Given the description of an element on the screen output the (x, y) to click on. 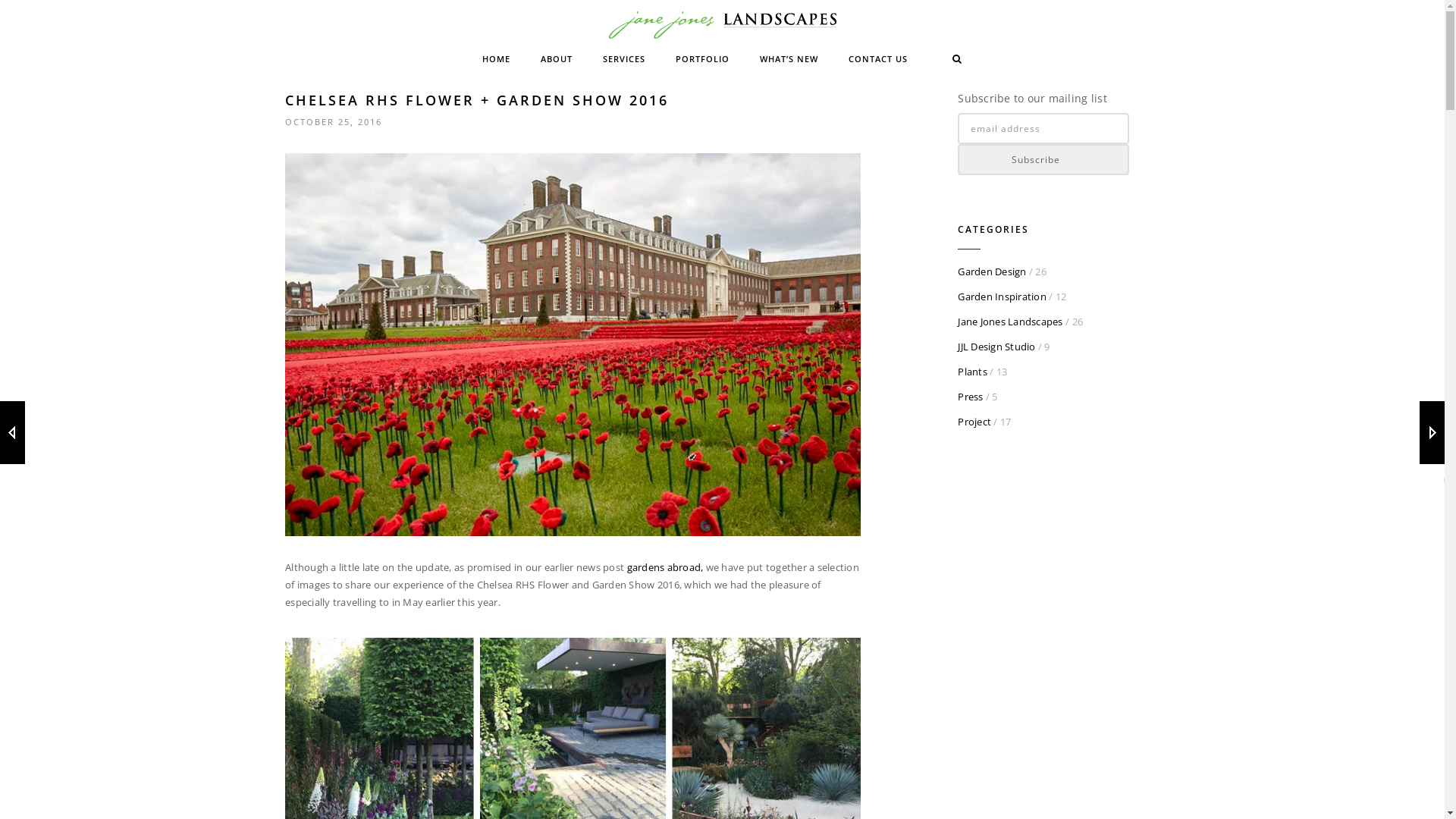
SERVICES Element type: text (623, 59)
Project Element type: text (974, 421)
Jane Jones Landscapes Element type: text (1009, 321)
gardens abroad, Element type: text (665, 567)
Subscribe Element type: text (1043, 159)
Garden Design Element type: text (991, 271)
ABOUT Element type: text (556, 59)
Plants Element type: text (972, 371)
JJL Design Studio Element type: text (996, 346)
Press Element type: text (969, 396)
CONTACT US Element type: text (877, 59)
Garden Inspiration Element type: text (1001, 296)
HOME Element type: text (496, 59)
PORTFOLIO Element type: text (702, 59)
